Given the description of an element on the screen output the (x, y) to click on. 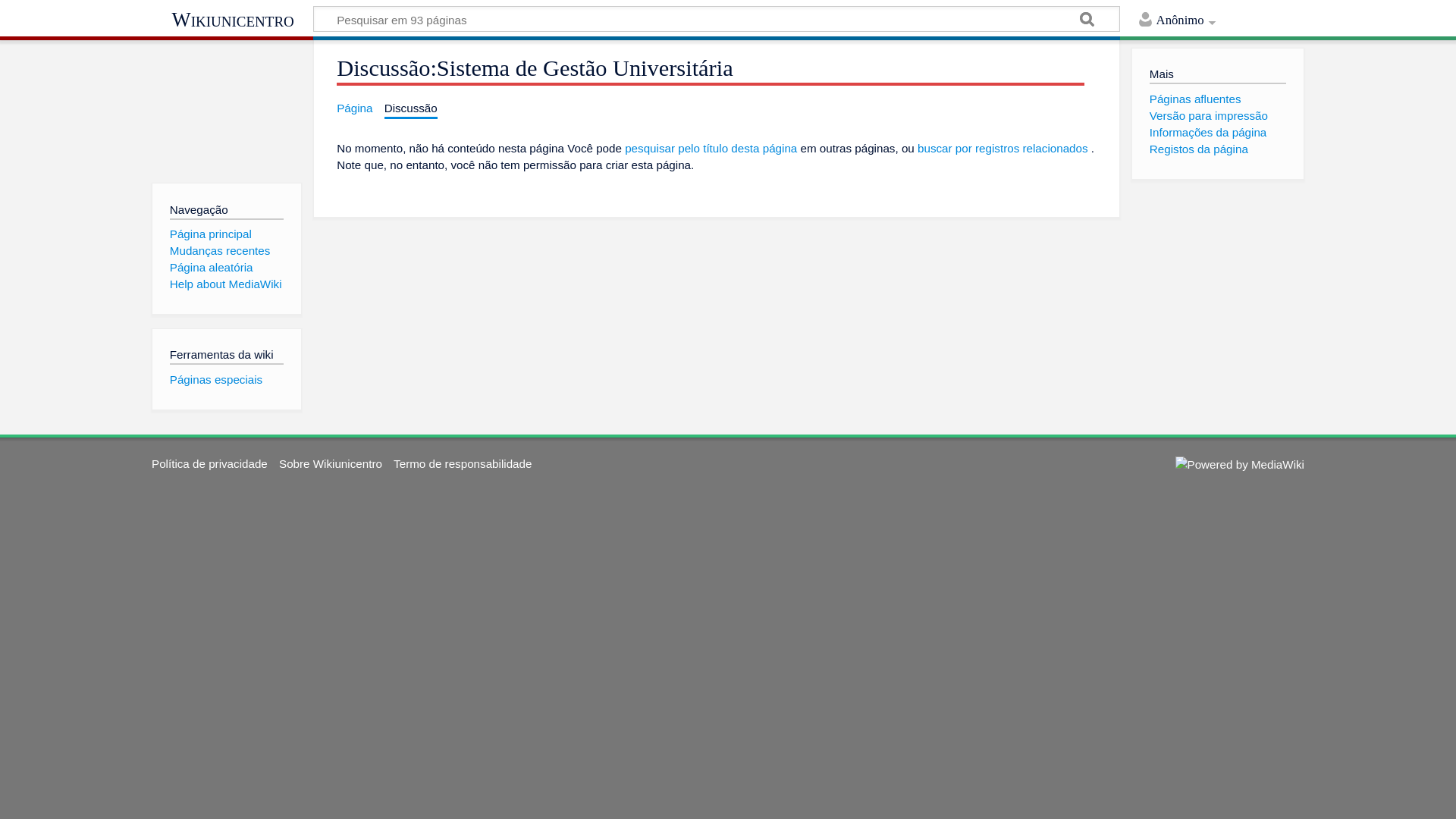
Termo de responsabilidade Element type: text (462, 463)
Pesquisar Element type: text (1087, 20)
Help about MediaWiki Element type: text (225, 283)
Wikiunicentro Element type: text (232, 20)
Sobre Wikiunicentro Element type: text (330, 463)
Pesquisar em Wikiunicentro [f] Element type: hover (716, 18)
buscar por registros relacionados Element type: text (1002, 147)
